Given the description of an element on the screen output the (x, y) to click on. 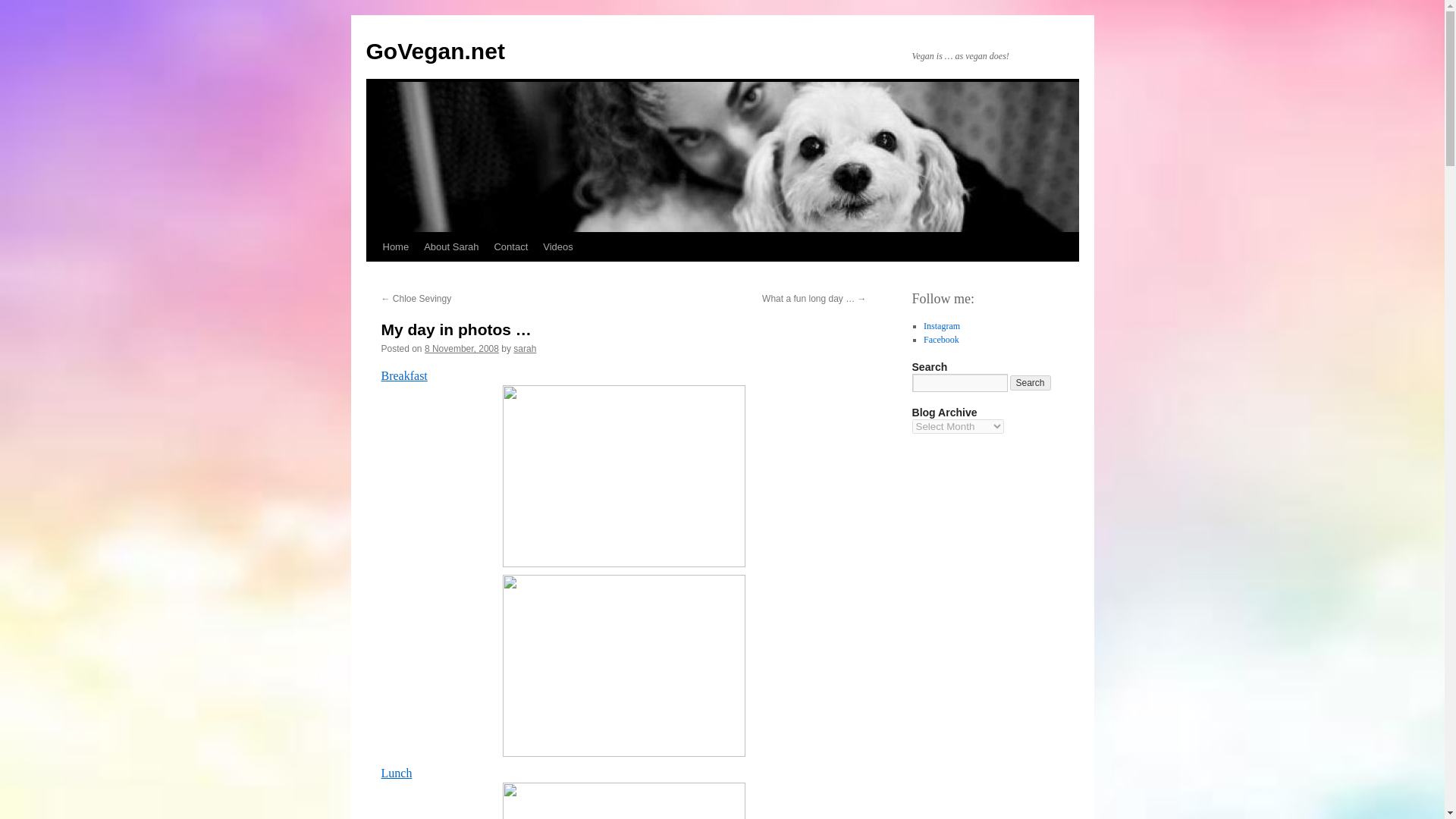
Videos (557, 246)
View all posts by sarah (524, 348)
About Sarah (451, 246)
Lunch (396, 772)
Home (395, 246)
GoVegan.net (434, 50)
Contact (510, 246)
9:38 pm (462, 348)
Facebook (941, 339)
8 November, 2008 (462, 348)
Breakfast (403, 375)
sarah (524, 348)
Search (1030, 382)
Instagram (941, 326)
